Given the description of an element on the screen output the (x, y) to click on. 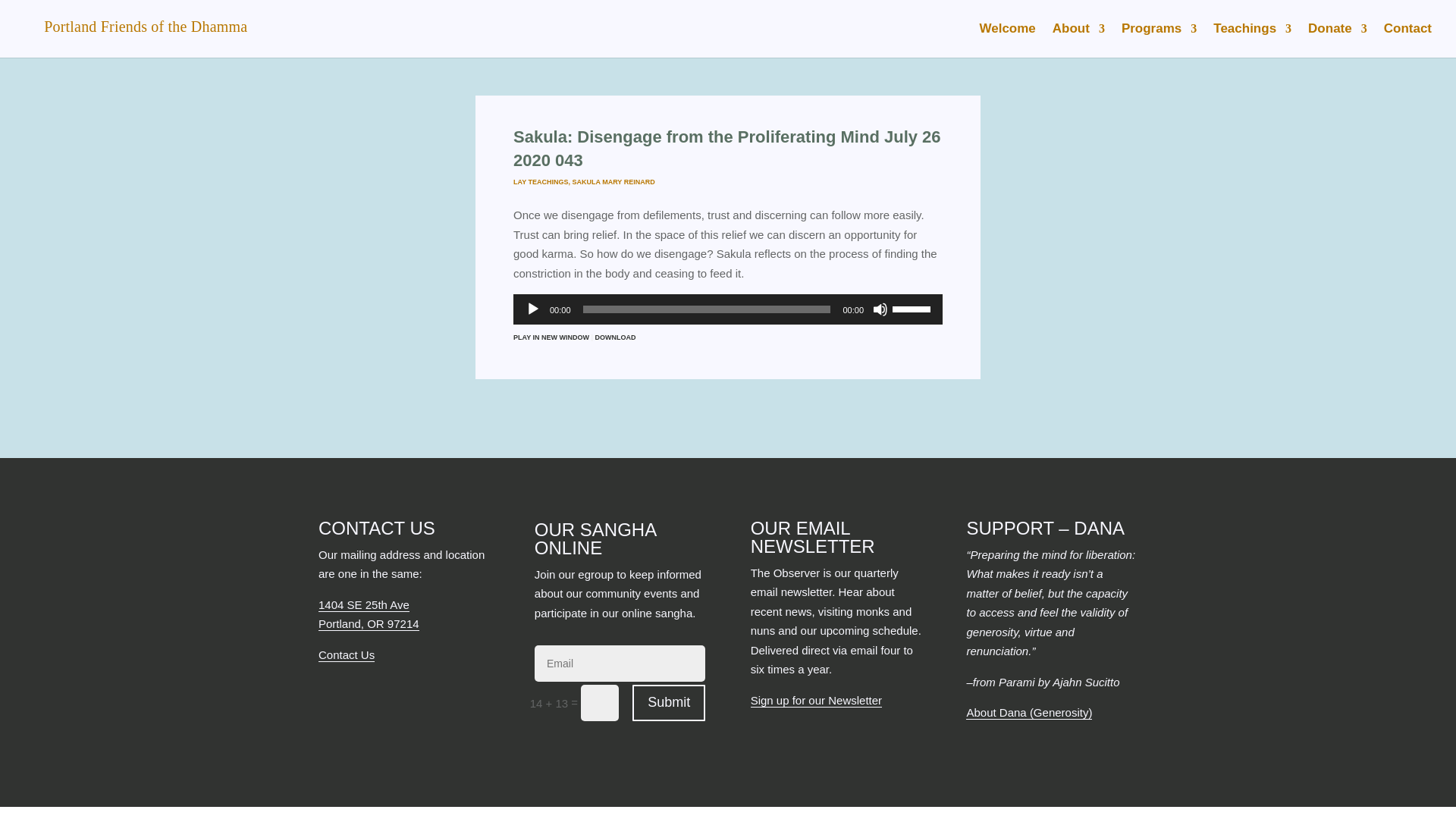
Download (615, 337)
Welcome (1006, 40)
Teachings (1251, 40)
Play in new window (551, 337)
Play (532, 309)
Programs (1158, 40)
Donate (1337, 40)
About (1078, 40)
Contact (1407, 40)
Mute (880, 309)
Portland Friends of the Dhamma (136, 27)
